Given the description of an element on the screen output the (x, y) to click on. 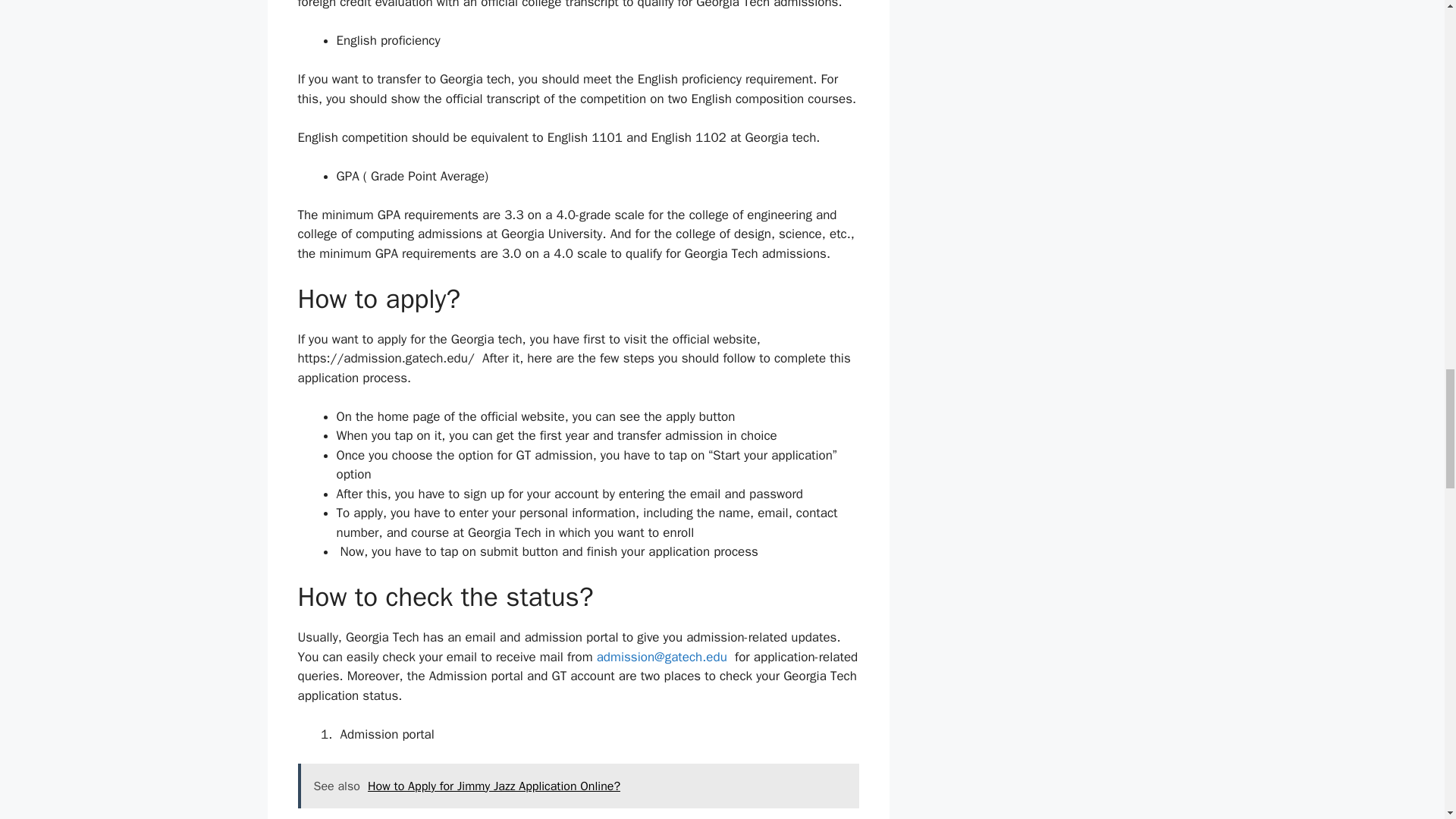
See also  How to Apply for Jimmy Jazz Application Online? (578, 785)
